Given the description of an element on the screen output the (x, y) to click on. 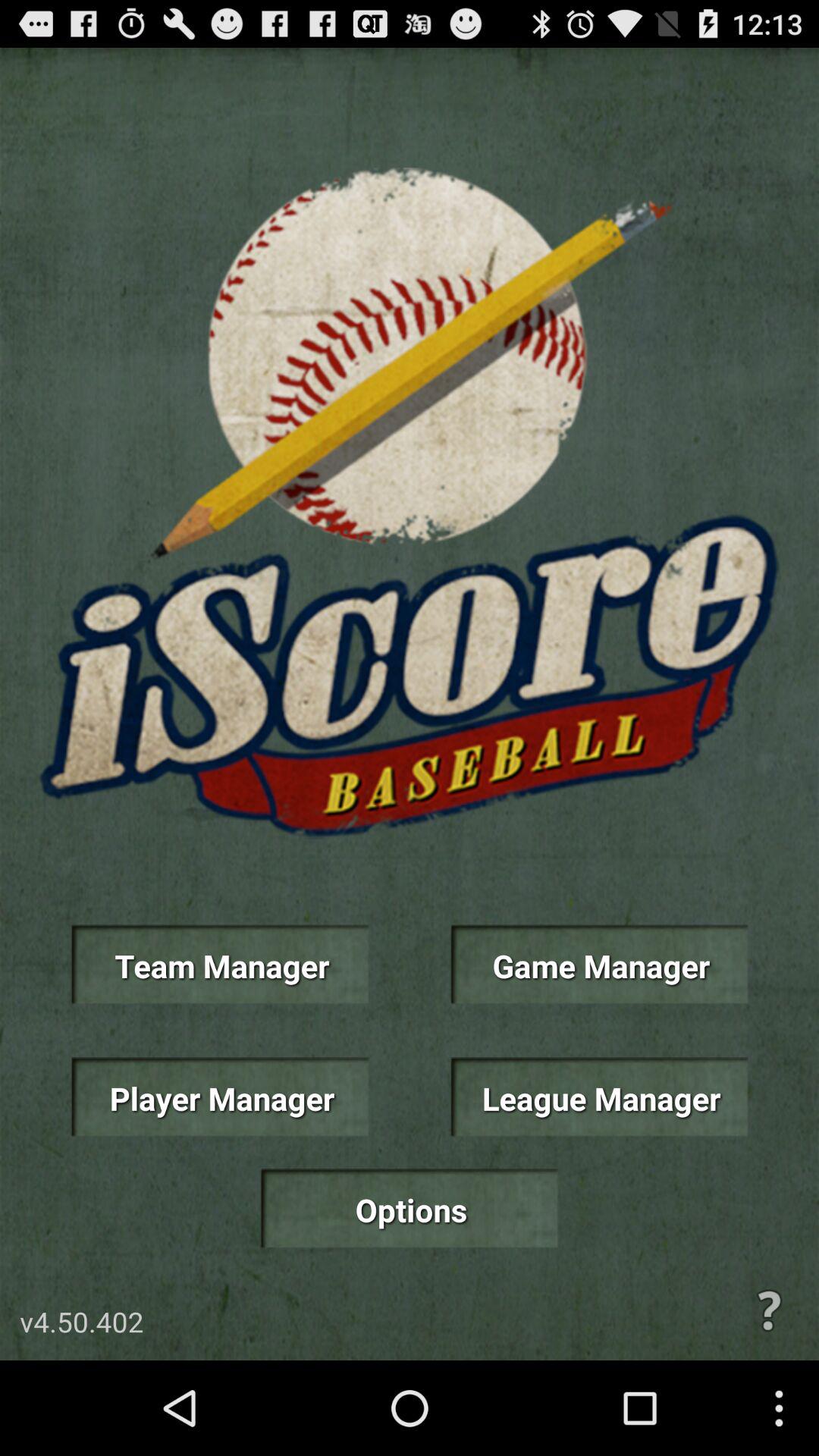
select icon next to player manager (598, 1096)
